Given the description of an element on the screen output the (x, y) to click on. 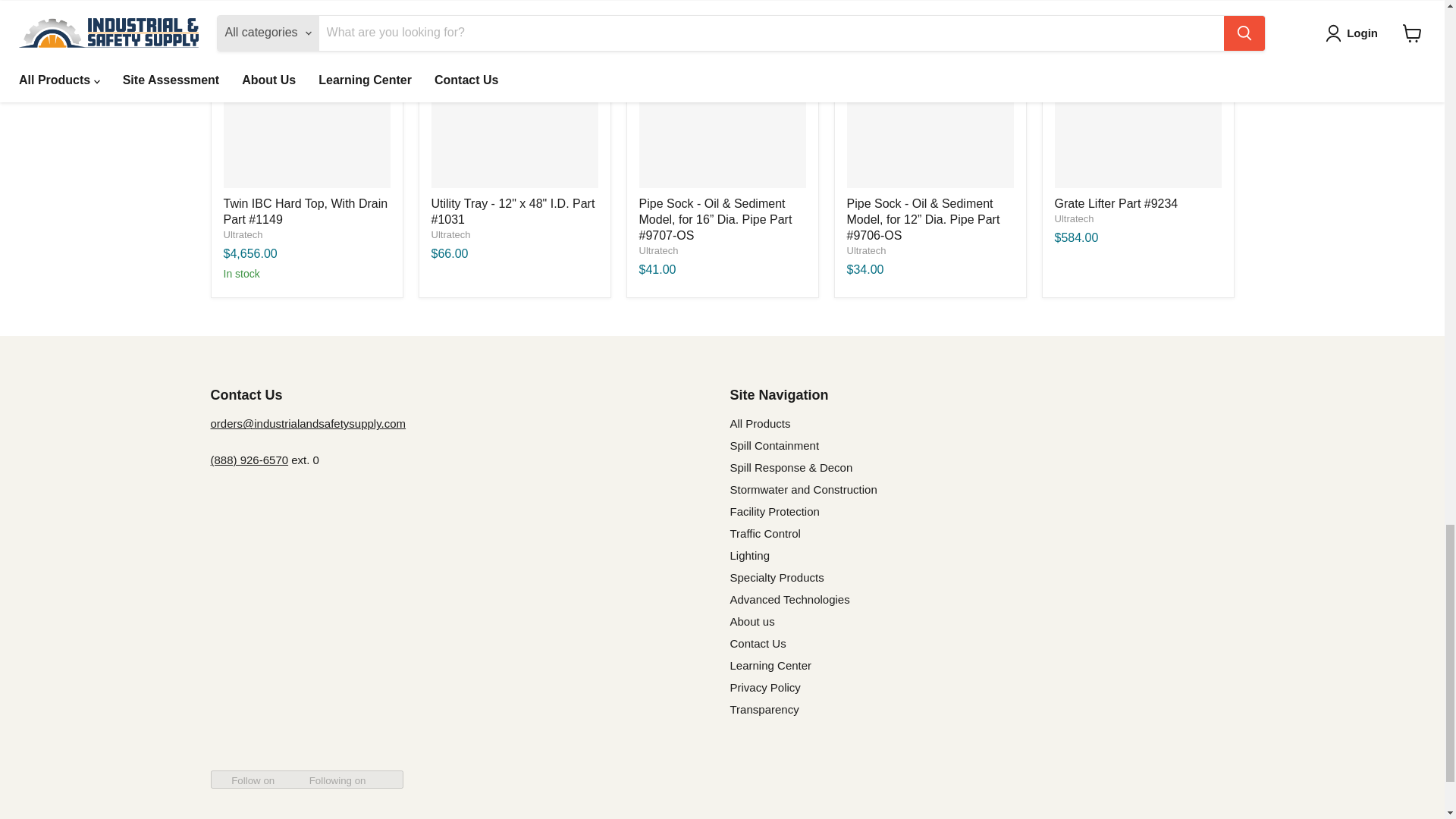
Ultratech (242, 234)
Ultratech (450, 234)
Ultratech (1073, 218)
Ultratech (865, 250)
Ultratech (658, 250)
